Given the description of an element on the screen output the (x, y) to click on. 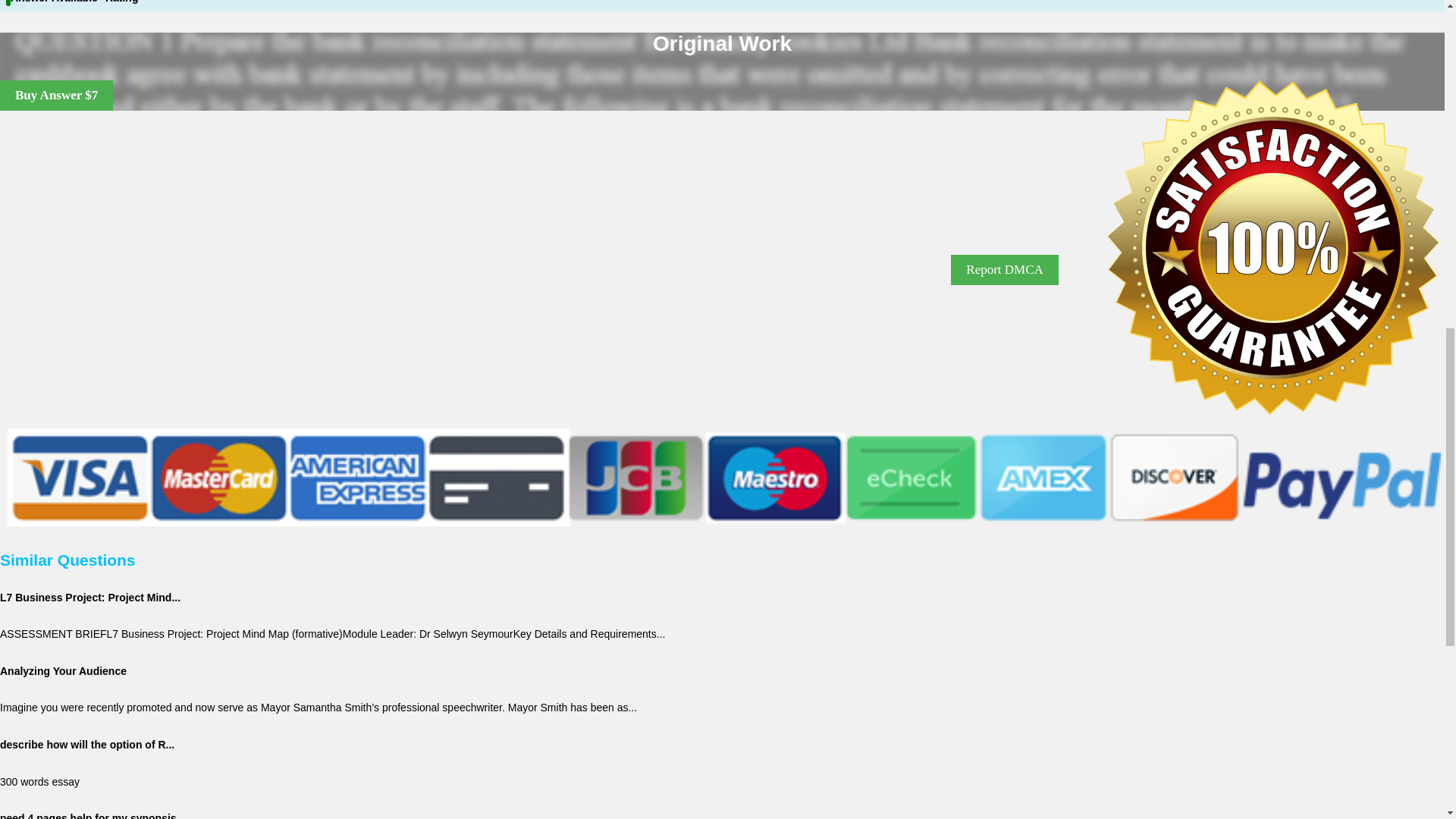
Report DMCA (1004, 269)
